Given the description of an element on the screen output the (x, y) to click on. 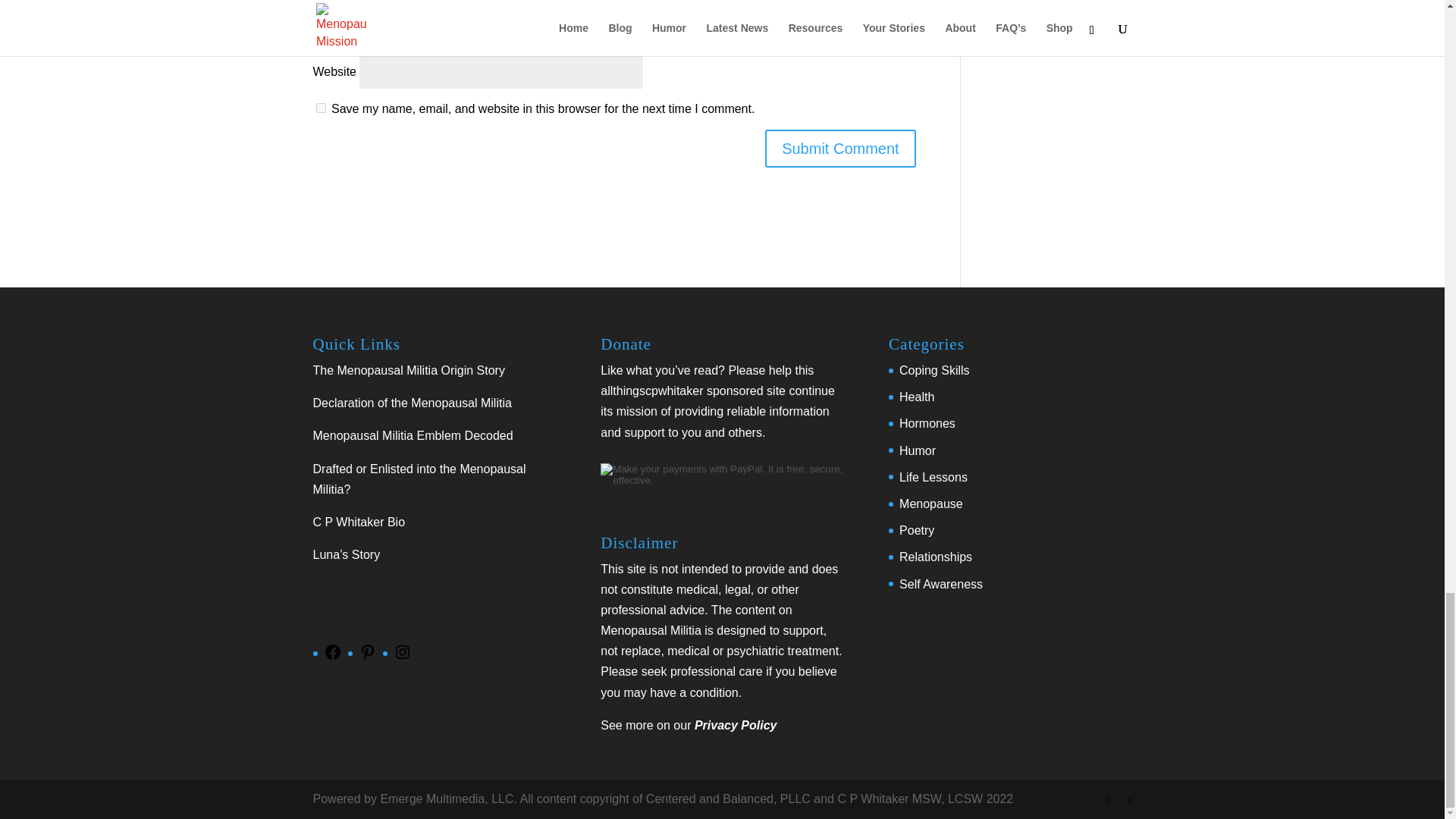
Facebook (331, 656)
C P Whitaker Bio (358, 521)
Submit Comment (840, 148)
Drafted or Enlisted into the Menopausal Militia? (419, 479)
The Menopausal Militia Origin Story (408, 369)
yes (319, 108)
Menopausal Militia Emblem Decoded (412, 435)
Submit Comment (840, 148)
Declaration of the Menopausal Militia (412, 402)
